Given the description of an element on the screen output the (x, y) to click on. 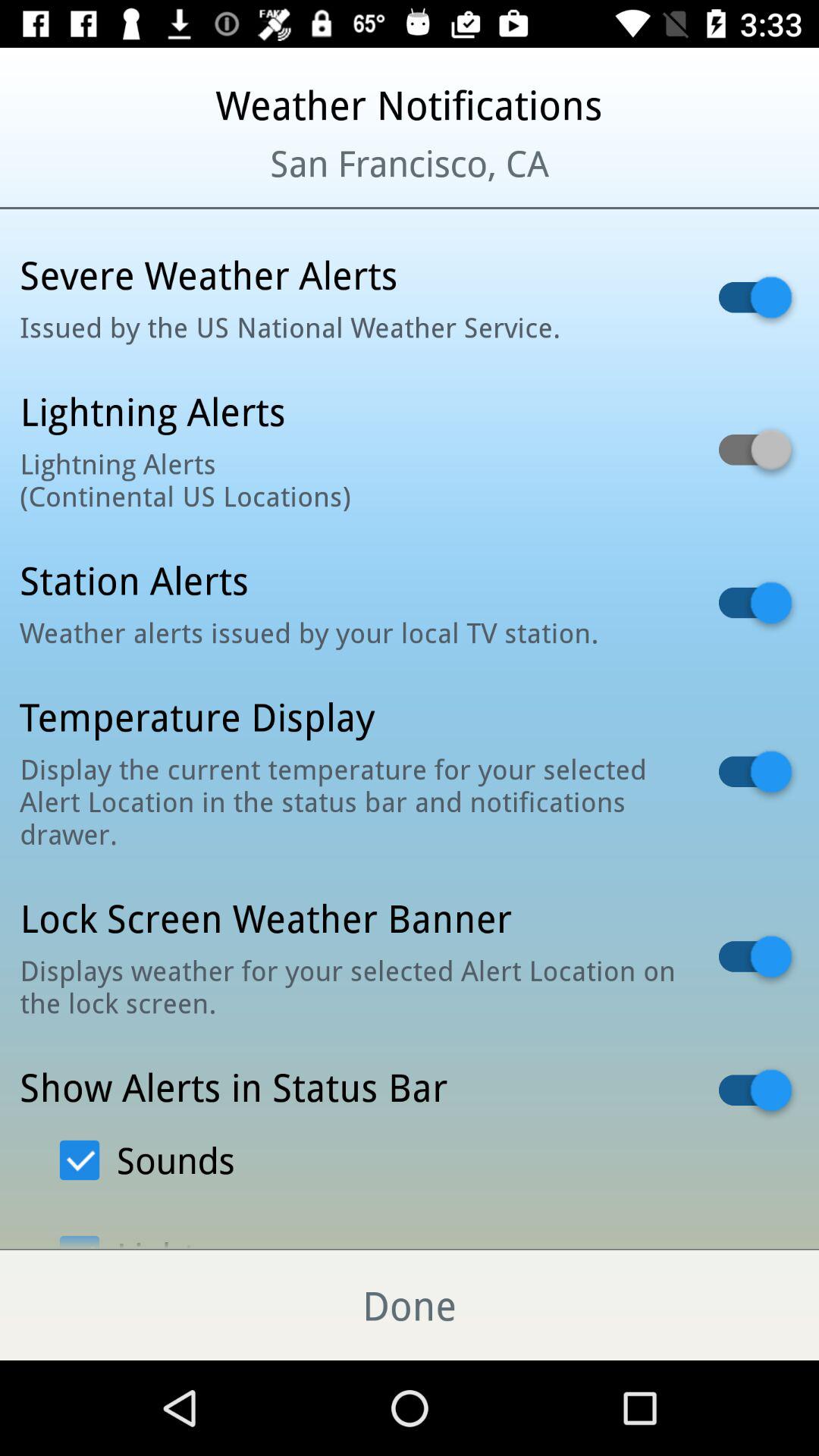
press the item below temperature display icon (349, 801)
